Given the description of an element on the screen output the (x, y) to click on. 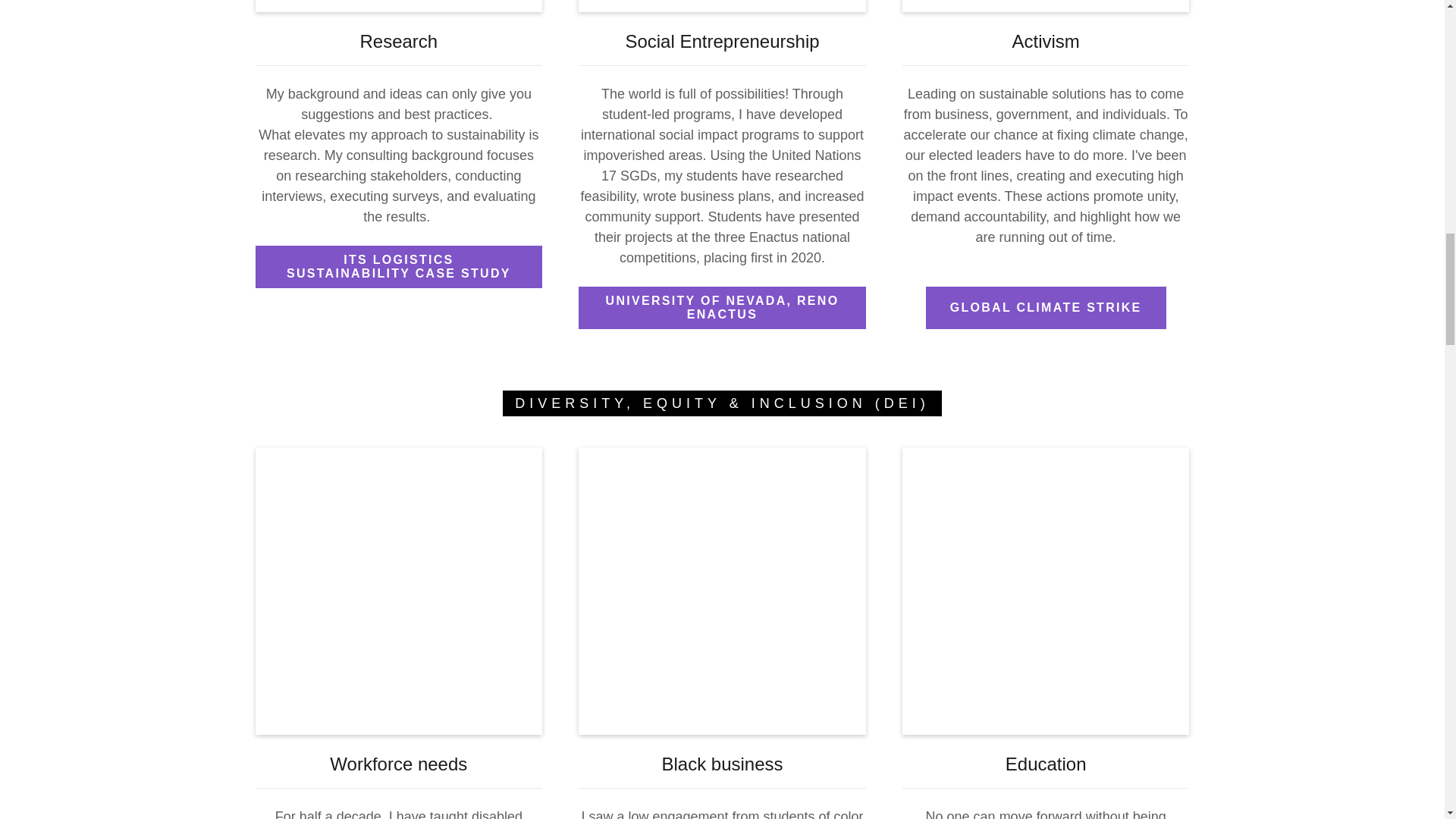
GLOBAL CLIMATE STRIKE (1046, 307)
UNIVERSITY OF NEVADA, RENO ENACTUS (722, 307)
ITS LOGISTICS SUSTAINABILITY CASE STUDY (399, 266)
